Given the description of an element on the screen output the (x, y) to click on. 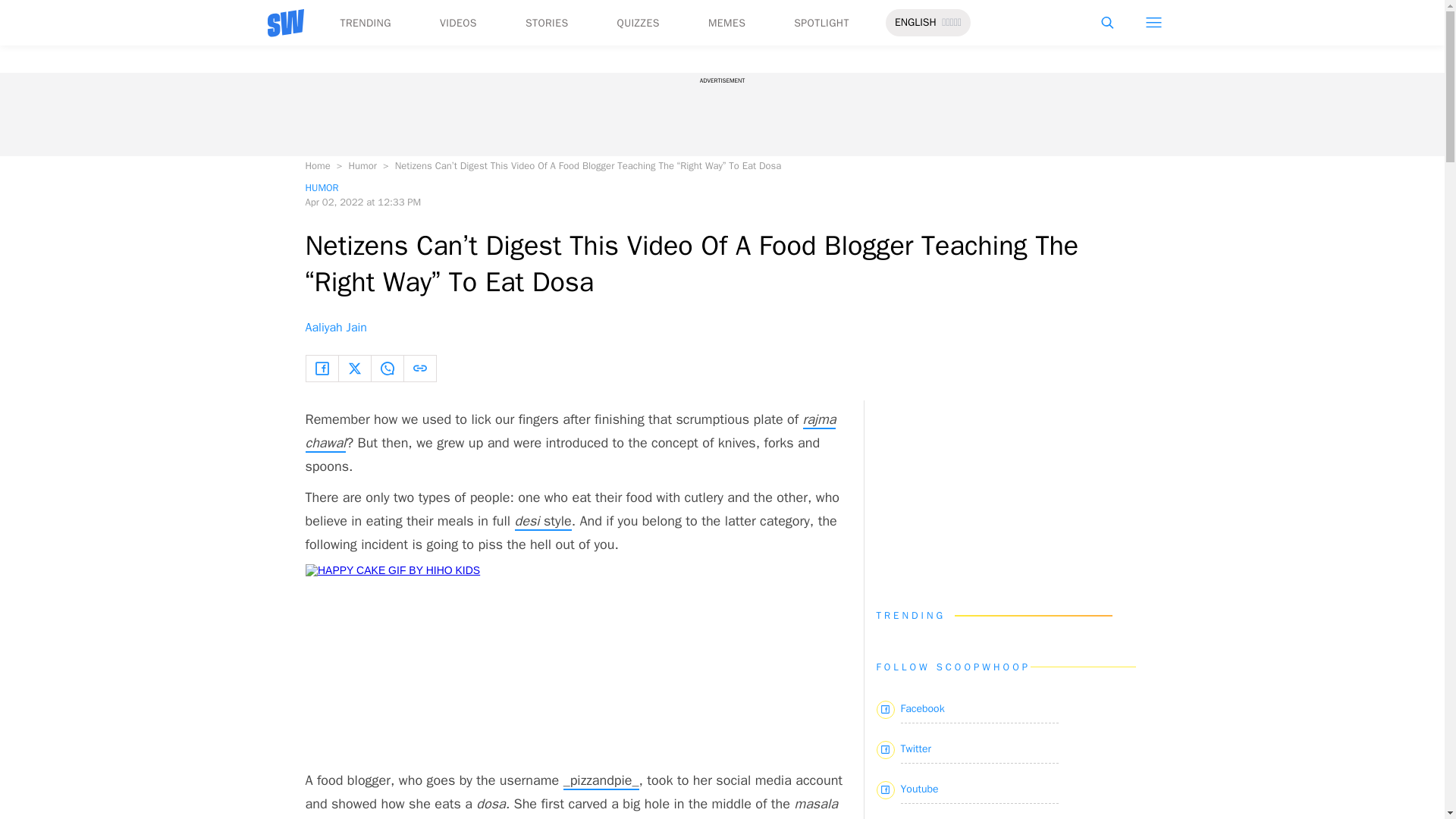
STORIES (547, 22)
MEMES (726, 22)
VIDEOS (458, 22)
SPOTLIGHT (820, 22)
ENGLISH (915, 22)
TRENDING (364, 22)
QUIZZES (638, 22)
